Given the description of an element on the screen output the (x, y) to click on. 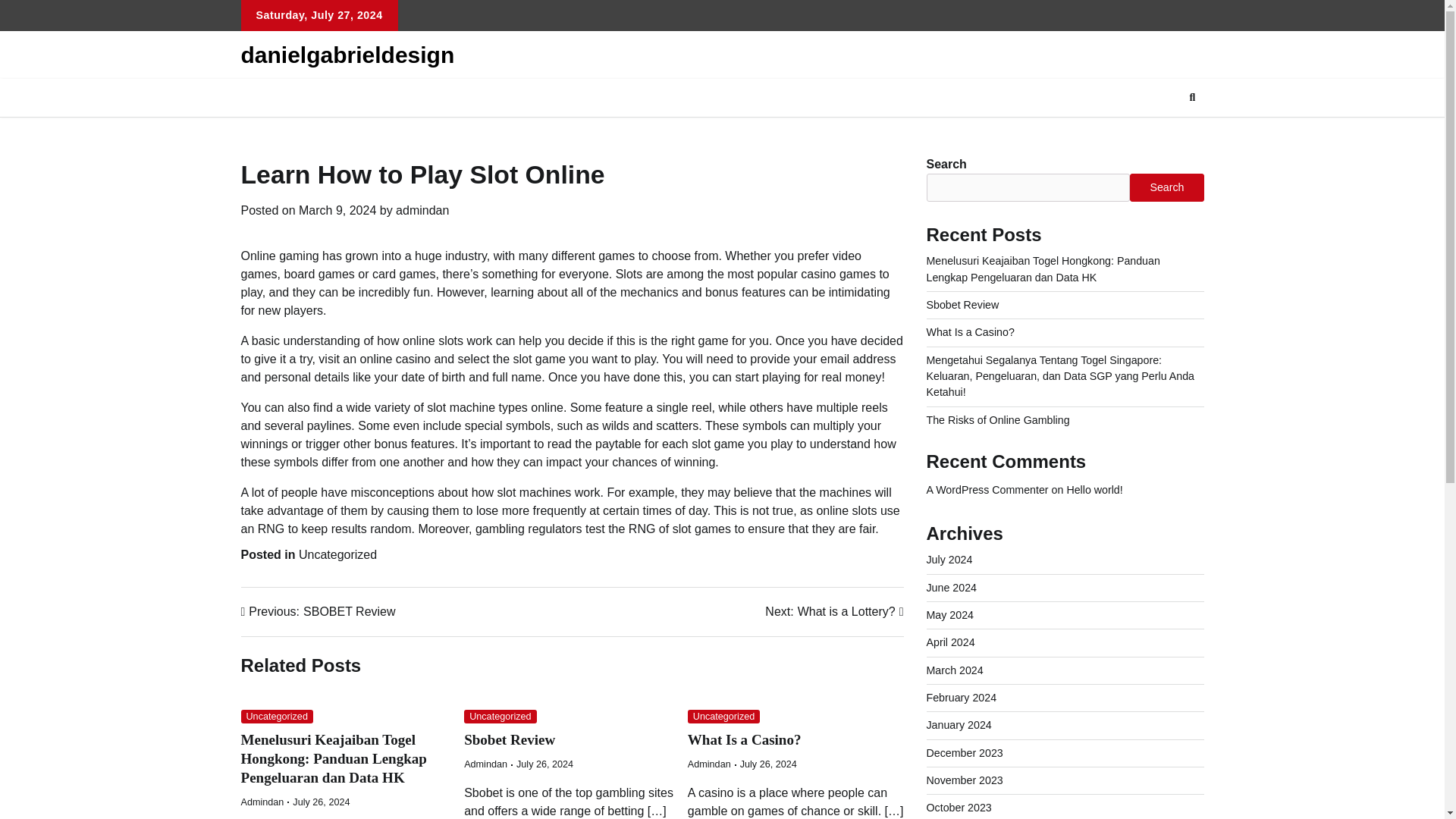
What Is a Casino? (744, 739)
March 2024 (955, 670)
Search (1166, 186)
Hello world! (1093, 490)
November 2023 (964, 779)
May 2024 (950, 614)
What Is a Casino? (970, 331)
Uncategorized (723, 716)
The Risks of Online Gambling (998, 419)
Sbobet Review (509, 739)
December 2023 (964, 752)
January 2024 (958, 725)
